Given the description of an element on the screen output the (x, y) to click on. 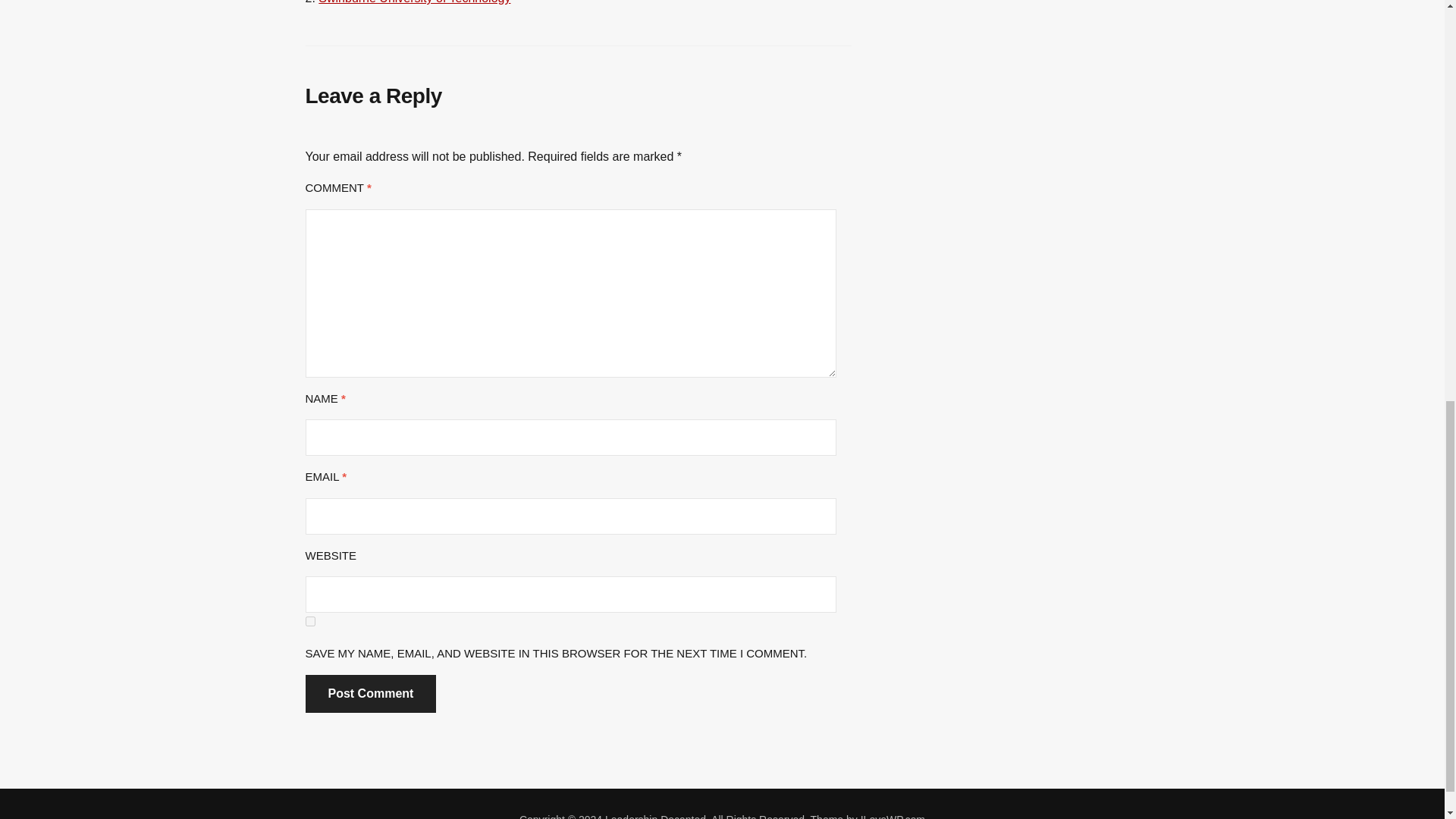
Post Comment (369, 693)
ILoveWP.com (892, 816)
Podcast WordPress Themes (892, 816)
Post Comment (369, 693)
Swinburne University of Technology (414, 2)
yes (309, 621)
